Given the description of an element on the screen output the (x, y) to click on. 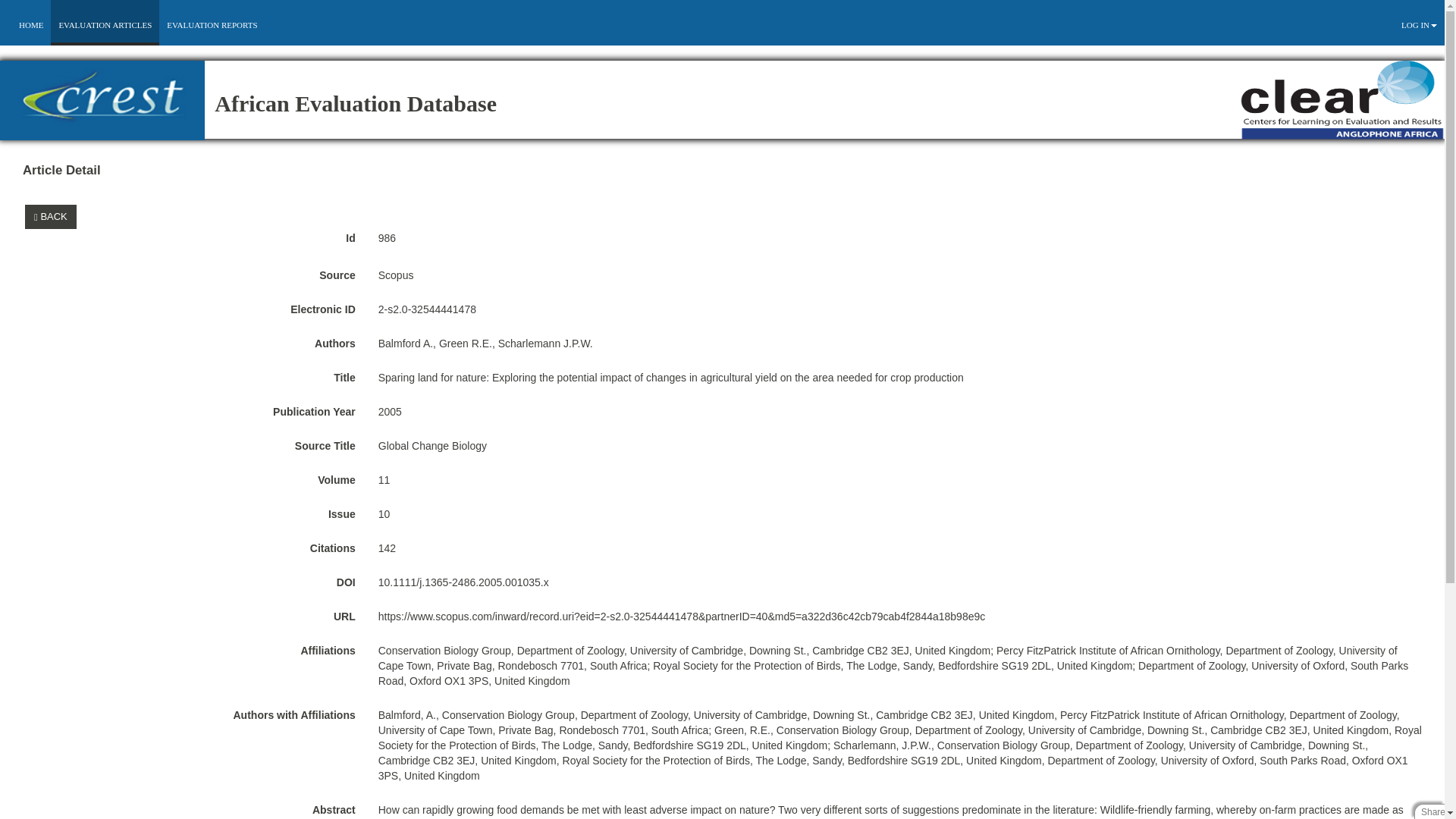
EVALUATION REPORTS (211, 24)
BACK (50, 216)
Back (53, 215)
EVALUATION ARTICLES (104, 24)
